Given the description of an element on the screen output the (x, y) to click on. 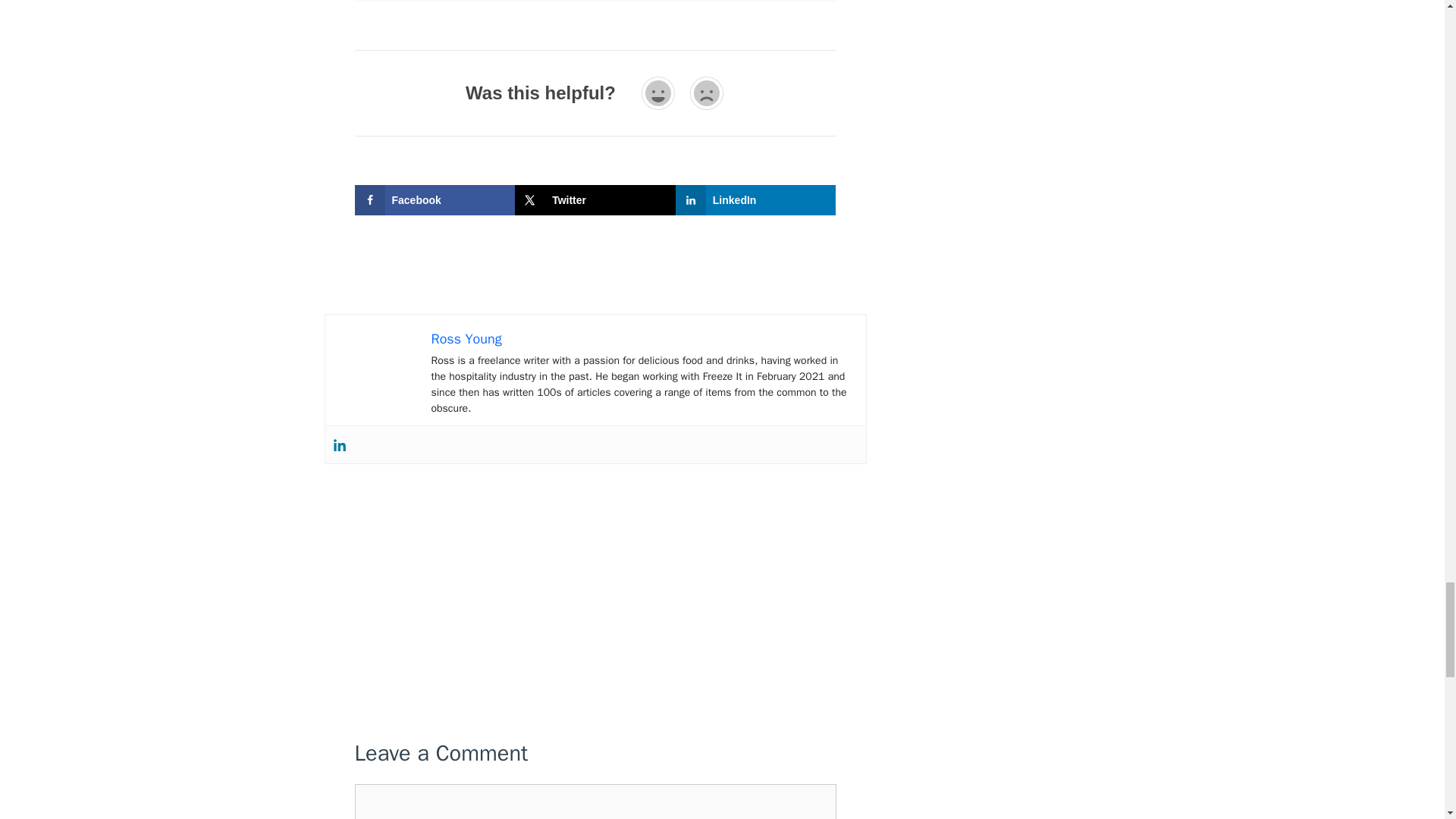
Share on LinkedIn (755, 200)
Share on X (595, 200)
Linkedin (338, 444)
Share on Facebook (435, 200)
